Given the description of an element on the screen output the (x, y) to click on. 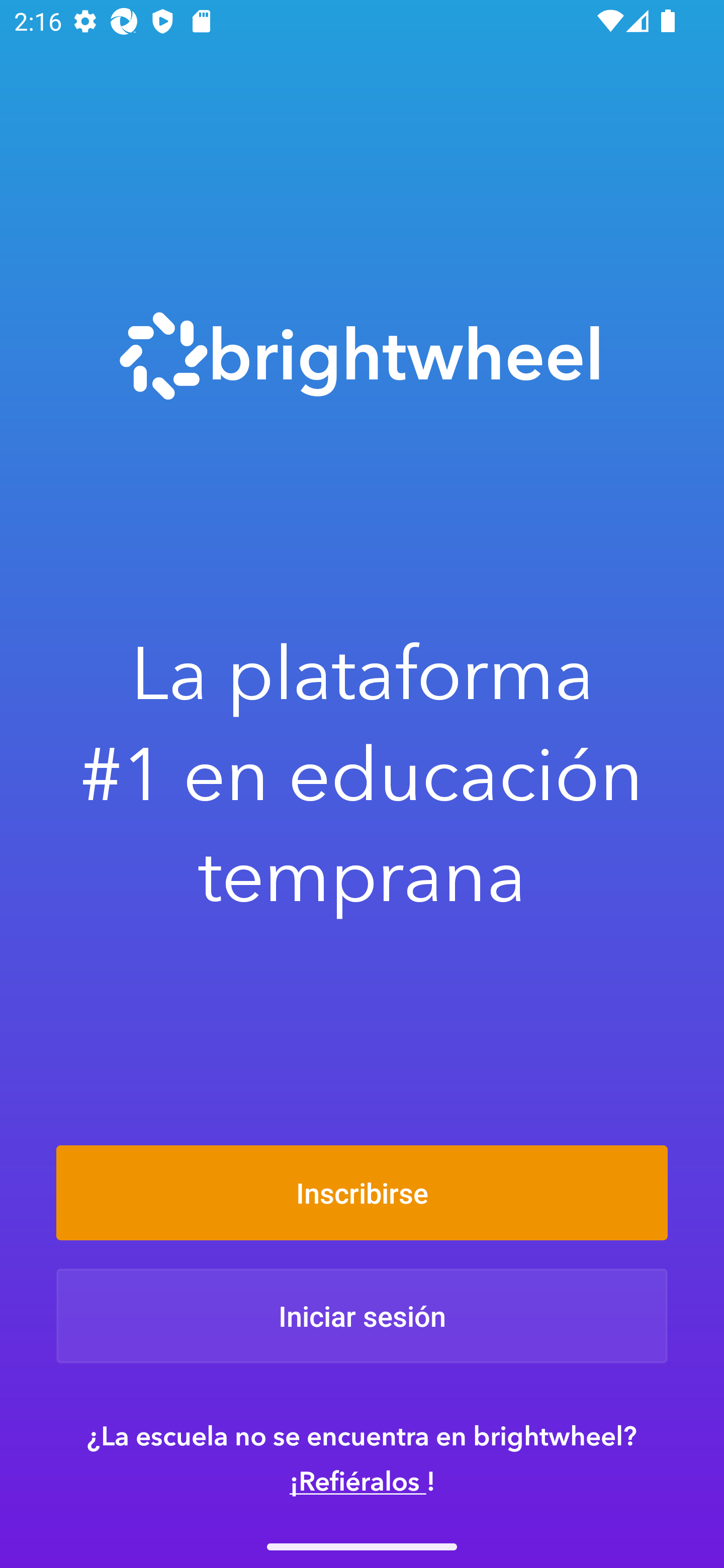
Inscribirse (361, 1192)
Iniciar sesión (361, 1316)
